Given the description of an element on the screen output the (x, y) to click on. 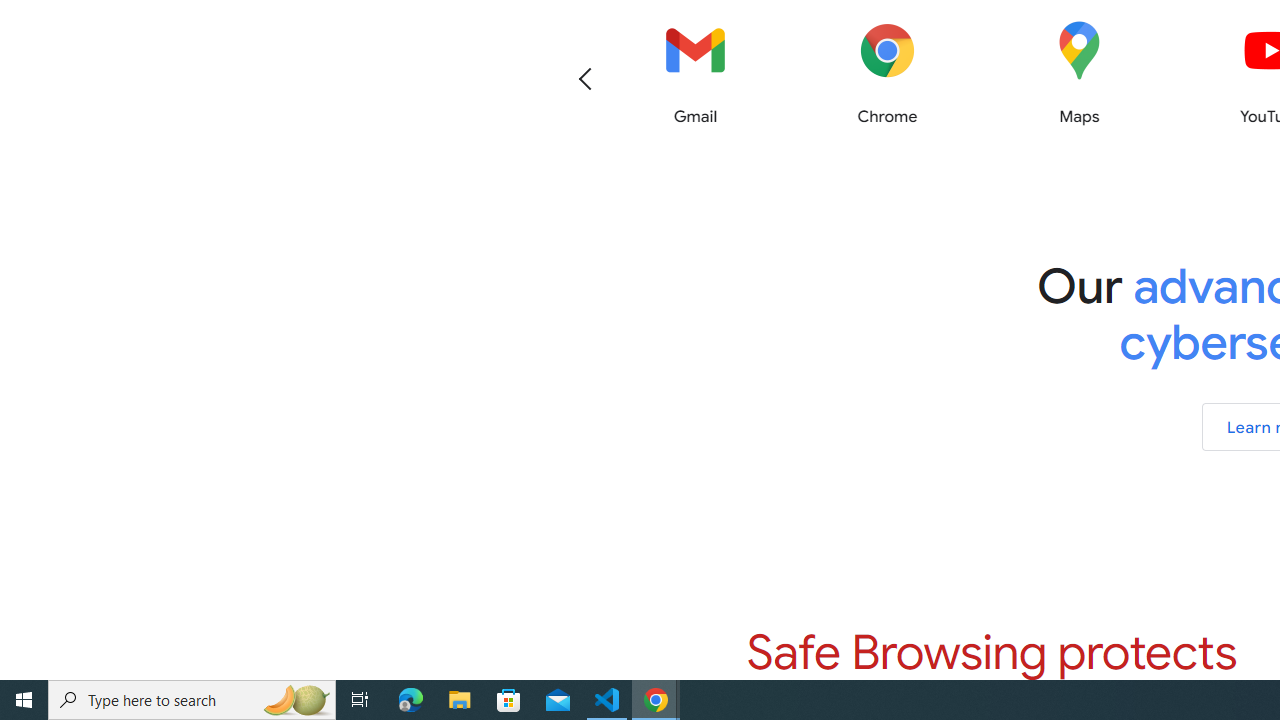
Previous (585, 78)
